Given the description of an element on the screen output the (x, y) to click on. 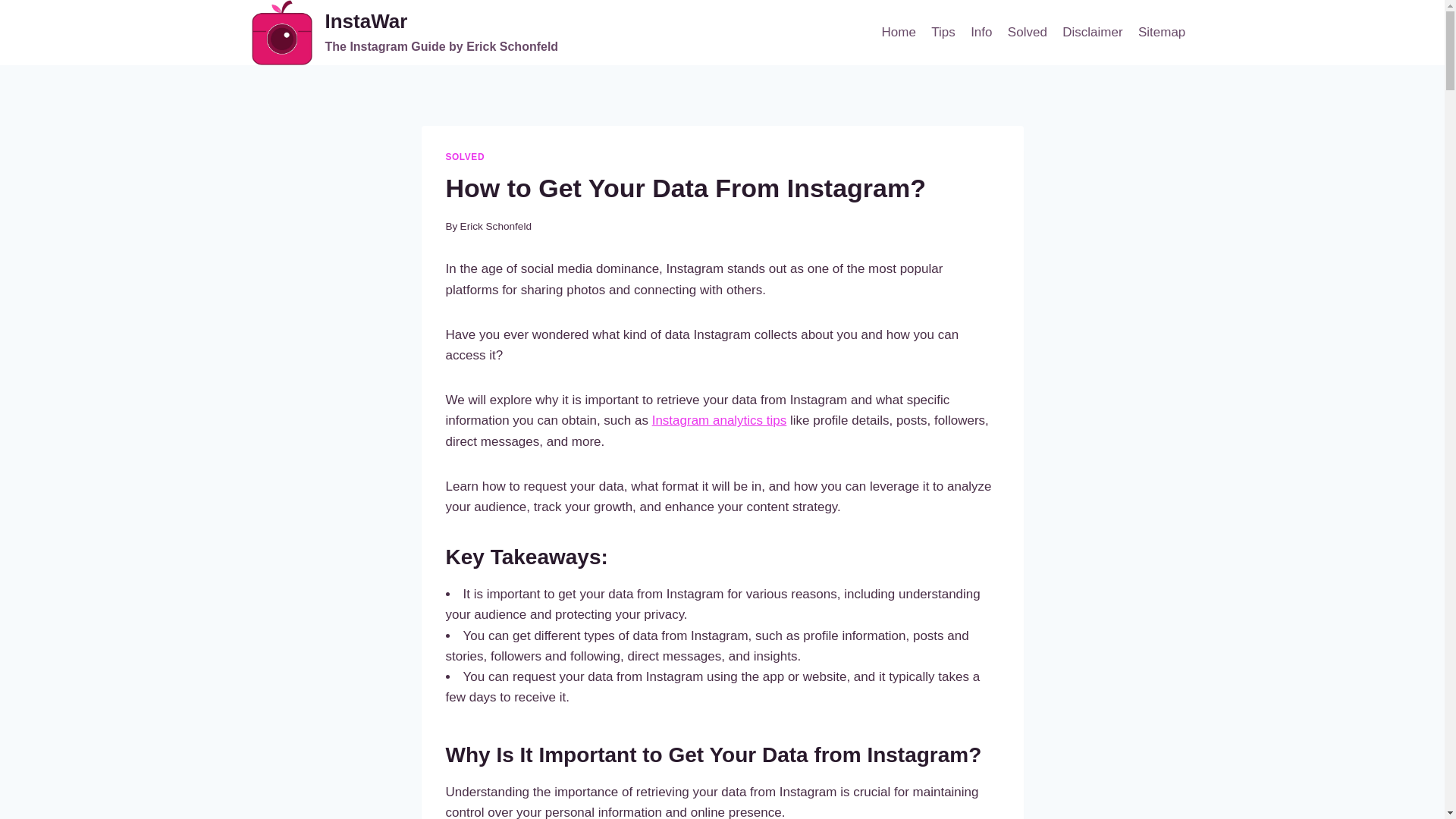
Home (898, 32)
Info (981, 32)
Sitemap (405, 32)
Instagram analytics tips (1162, 32)
Disclaimer (719, 420)
Erick Schonfeld (1092, 32)
Solved (495, 225)
Tips (1027, 32)
SOLVED (942, 32)
